Given the description of an element on the screen output the (x, y) to click on. 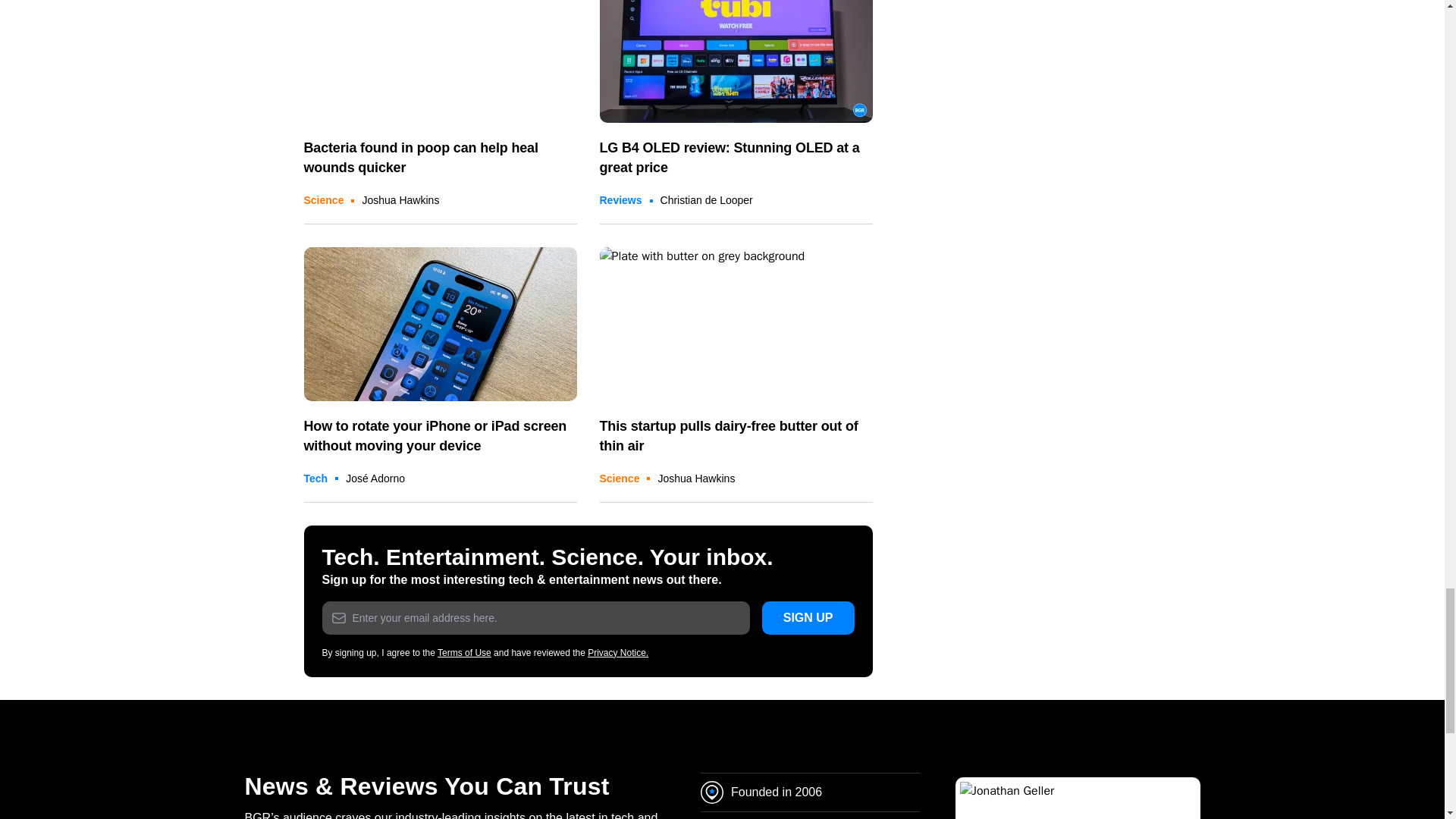
Posts by Christian de Looper (706, 200)
Posts by Joshua Hawkins (696, 478)
good bacteria (439, 61)
LG B4 OLED Review (735, 61)
Posts by Joshua Hawkins (400, 200)
dairy-free butter (735, 324)
